Given the description of an element on the screen output the (x, y) to click on. 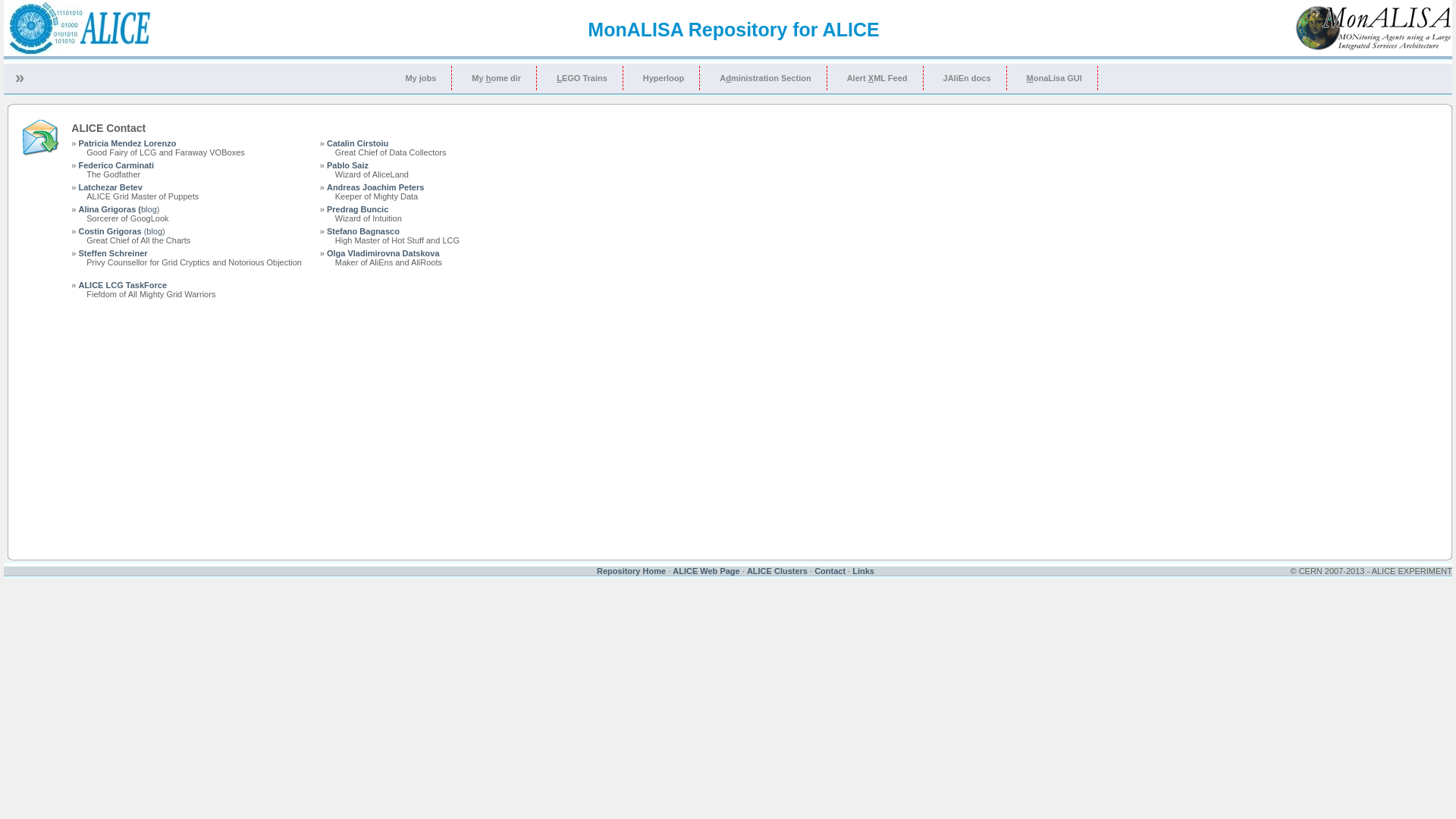
Patricia Mendez Lorenzo Element type: text (126, 142)
My jobs Element type: text (420, 77)
Pablo Saiz Element type: text (347, 164)
Stefano Bagnasco Element type: text (362, 230)
Andreas Joachim Peters Element type: text (374, 186)
Administration Section Element type: text (765, 77)
JAliEn docs Element type: text (967, 77)
Repository Home Element type: text (630, 570)
Hyperloop Element type: text (663, 77)
Steffen Schreiner Element type: text (112, 252)
MonaLisa GUI Element type: text (1054, 77)
Contact Element type: text (829, 570)
Costin Grigoras Element type: text (109, 230)
Catalin Cirstoiu Element type: text (357, 142)
blog Element type: text (154, 230)
MonALISA Repository for ALICE Element type: text (732, 29)
Olga Vladimirovna Datskova Element type: text (382, 252)
Links Element type: text (863, 570)
blog Element type: text (148, 208)
My home dir Element type: text (496, 77)
ALICE Experiment public pages Element type: hover (79, 51)
ALICE LCG TaskForce Element type: text (122, 284)
Federico Carminati Element type: text (115, 164)
Predrag Buncic Element type: text (357, 208)
Latchezar Betev Element type: text (109, 186)
Alert XML Feed Element type: text (877, 77)
LEGO Trains Element type: text (582, 77)
ALICE Clusters Element type: text (776, 570)
MonALISA Grid Monitoring Element type: hover (1373, 46)
Alina Grigoras ( Element type: text (109, 208)
ALICE Web Page Element type: text (705, 570)
